Given the description of an element on the screen output the (x, y) to click on. 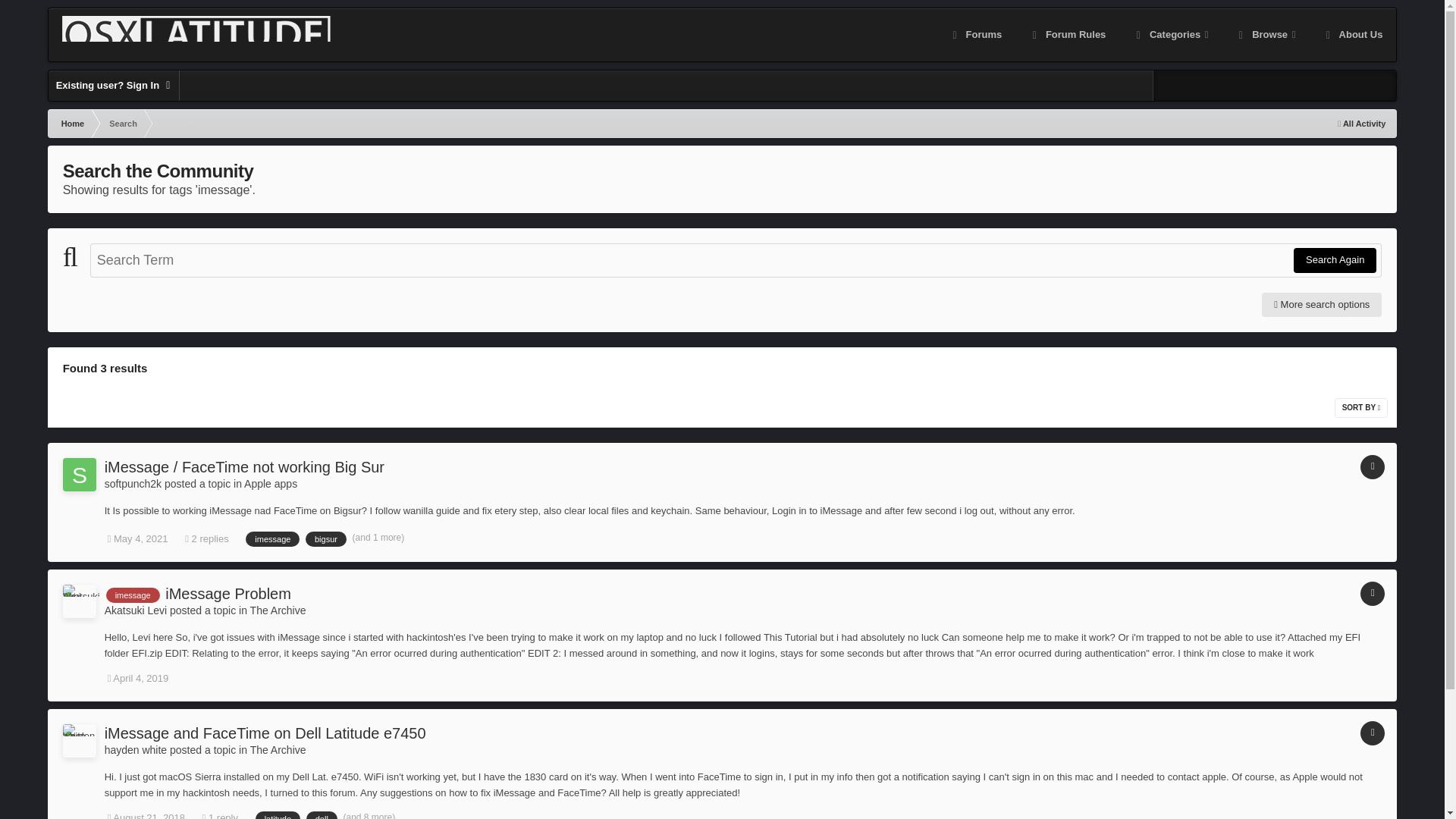
Forums (975, 34)
Topic (1371, 467)
Categories (1170, 34)
Home (72, 123)
Find other content tagged with 'imessage' (272, 539)
Find other content tagged with 'bigsur' (325, 539)
Go to Akatsuki Levi's profile (135, 610)
About Us (1352, 34)
Find other content tagged with 'imessage' (133, 595)
Browse (1265, 34)
Go to softpunch2k's profile (132, 483)
Go to Akatsuki Levi's profile (79, 601)
Forum Rules (1066, 34)
Topic (1371, 593)
Go to softpunch2k's profile (79, 474)
